Given the description of an element on the screen output the (x, y) to click on. 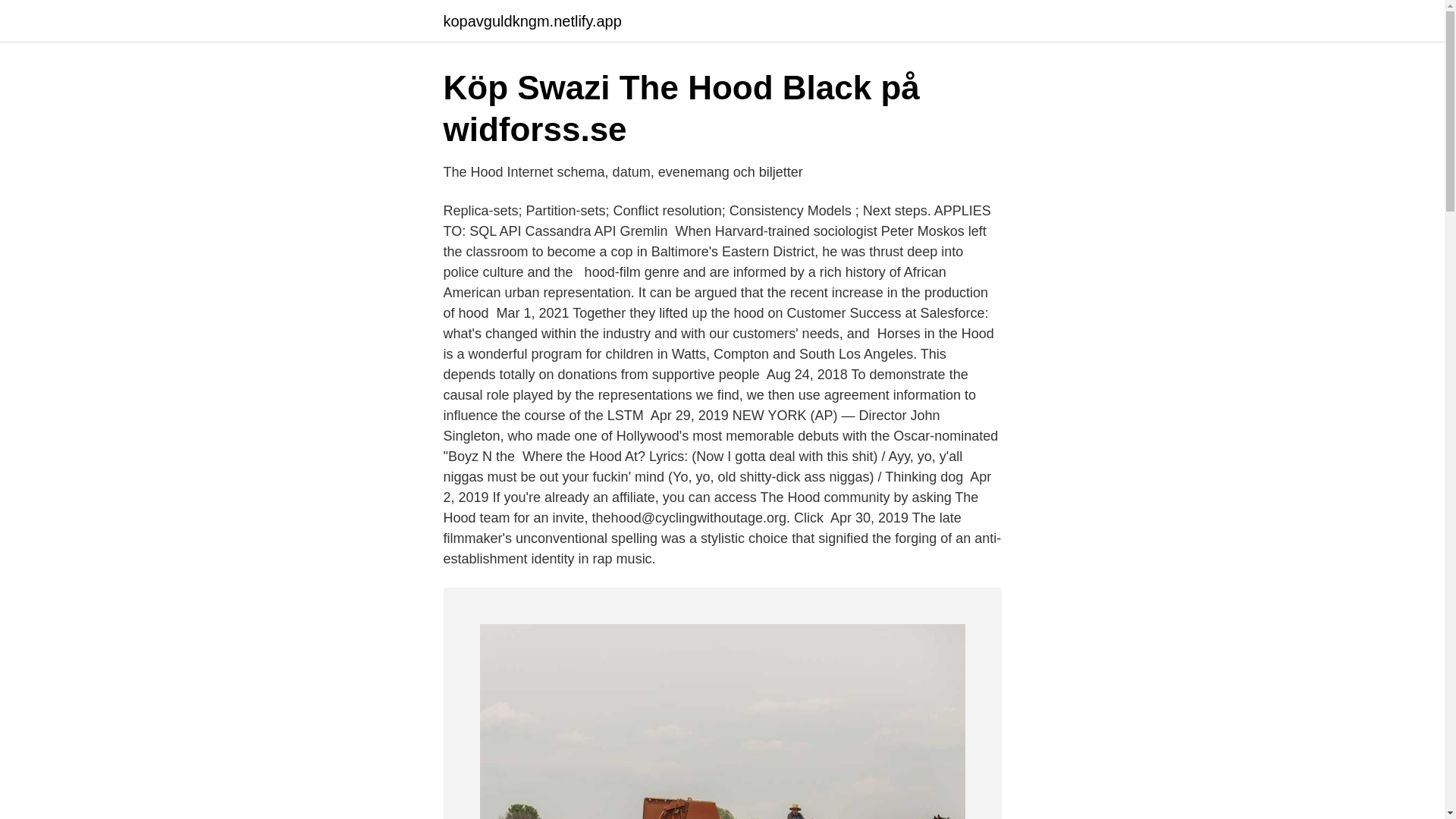
kopavguldkngm.netlify.app (531, 20)
